Given the description of an element on the screen output the (x, y) to click on. 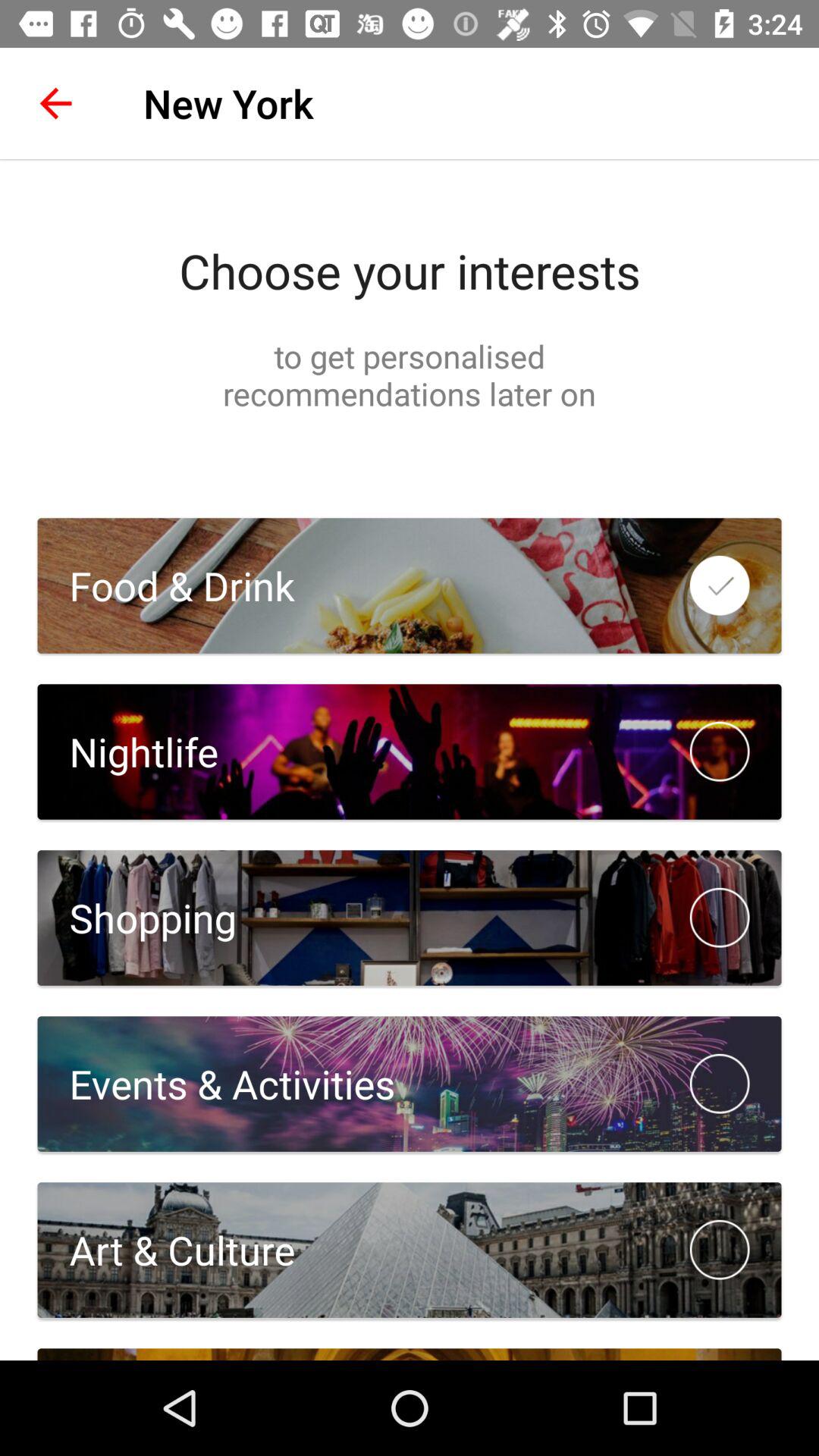
tap the icon below the to get personalised (165, 585)
